Given the description of an element on the screen output the (x, y) to click on. 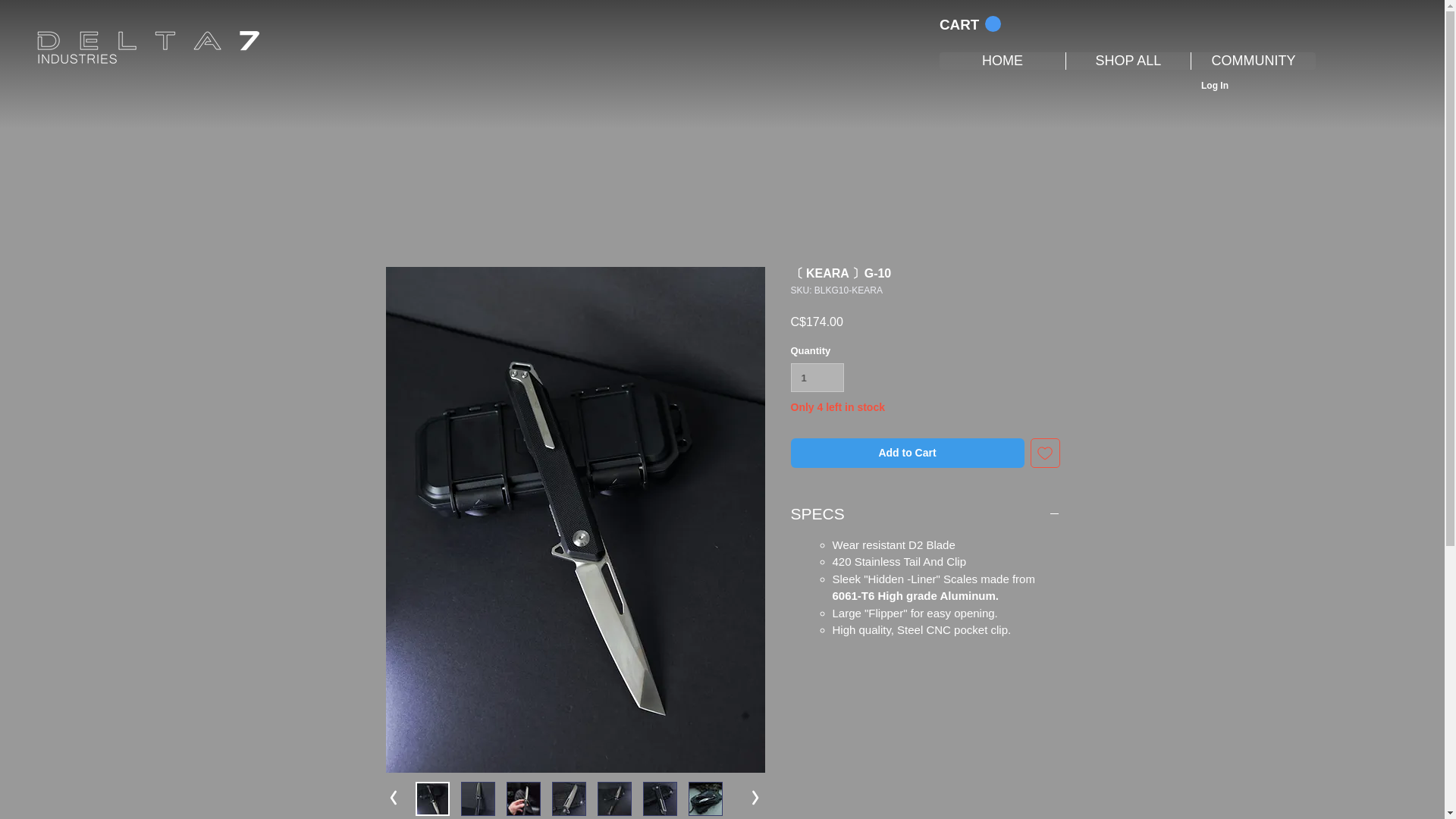
Log In (1215, 86)
COMMUNITY (1253, 60)
1 (817, 377)
SHOP ALL (1128, 60)
CART (970, 23)
SPECS (924, 514)
CART (970, 23)
Add to Cart (906, 452)
HOME (1002, 60)
